Given the description of an element on the screen output the (x, y) to click on. 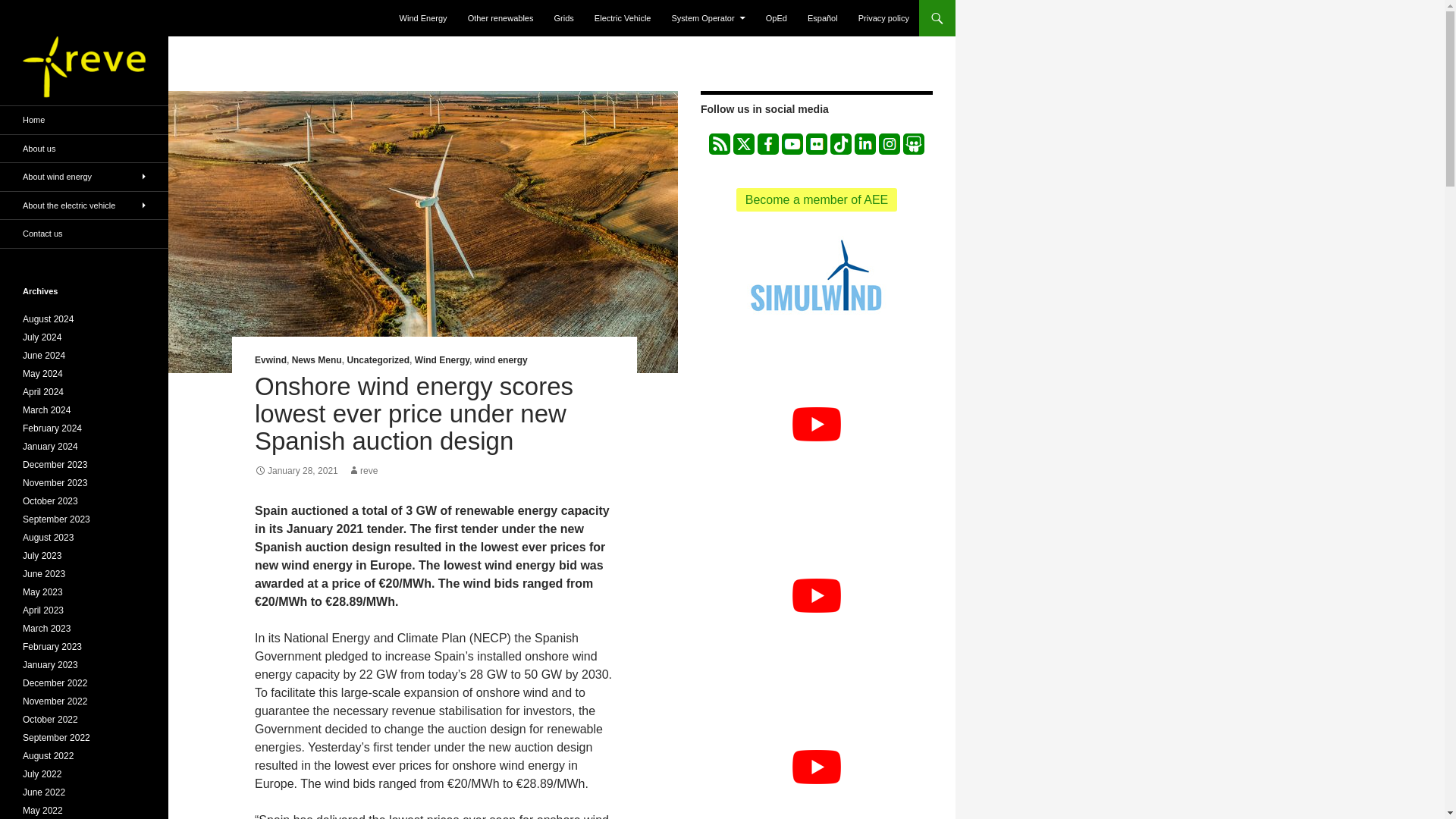
System Operator (708, 18)
Evwind (270, 359)
facebook (767, 143)
Privacy policy (883, 18)
OpEd (776, 18)
flickr (816, 143)
RSS (719, 143)
Uncategorized (377, 359)
Instagram (889, 143)
wind energy (500, 359)
